Given the description of an element on the screen output the (x, y) to click on. 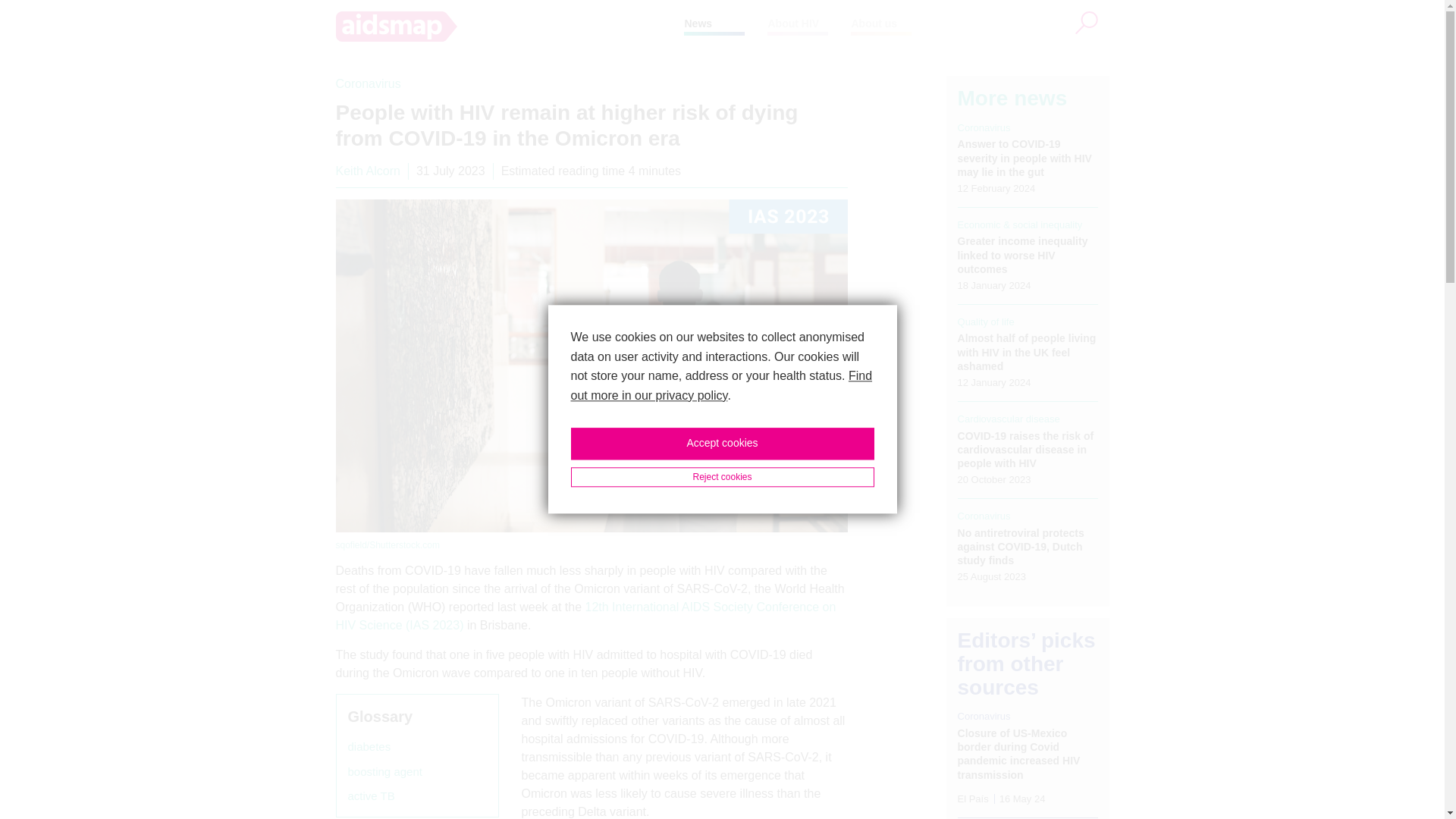
News (697, 23)
Coronavirus (367, 83)
Coronavirus (984, 715)
Home (509, 26)
Almost half of people living with HIV in the UK feel ashamed (1027, 351)
active TB (370, 796)
Keith Alcorn (366, 170)
Coronavirus (984, 127)
boosting agent (384, 772)
Cardiovascular disease (1008, 419)
Glossary (379, 716)
About us (873, 23)
Coronavirus (984, 515)
About HIV (792, 23)
diabetes (368, 746)
